Given the description of an element on the screen output the (x, y) to click on. 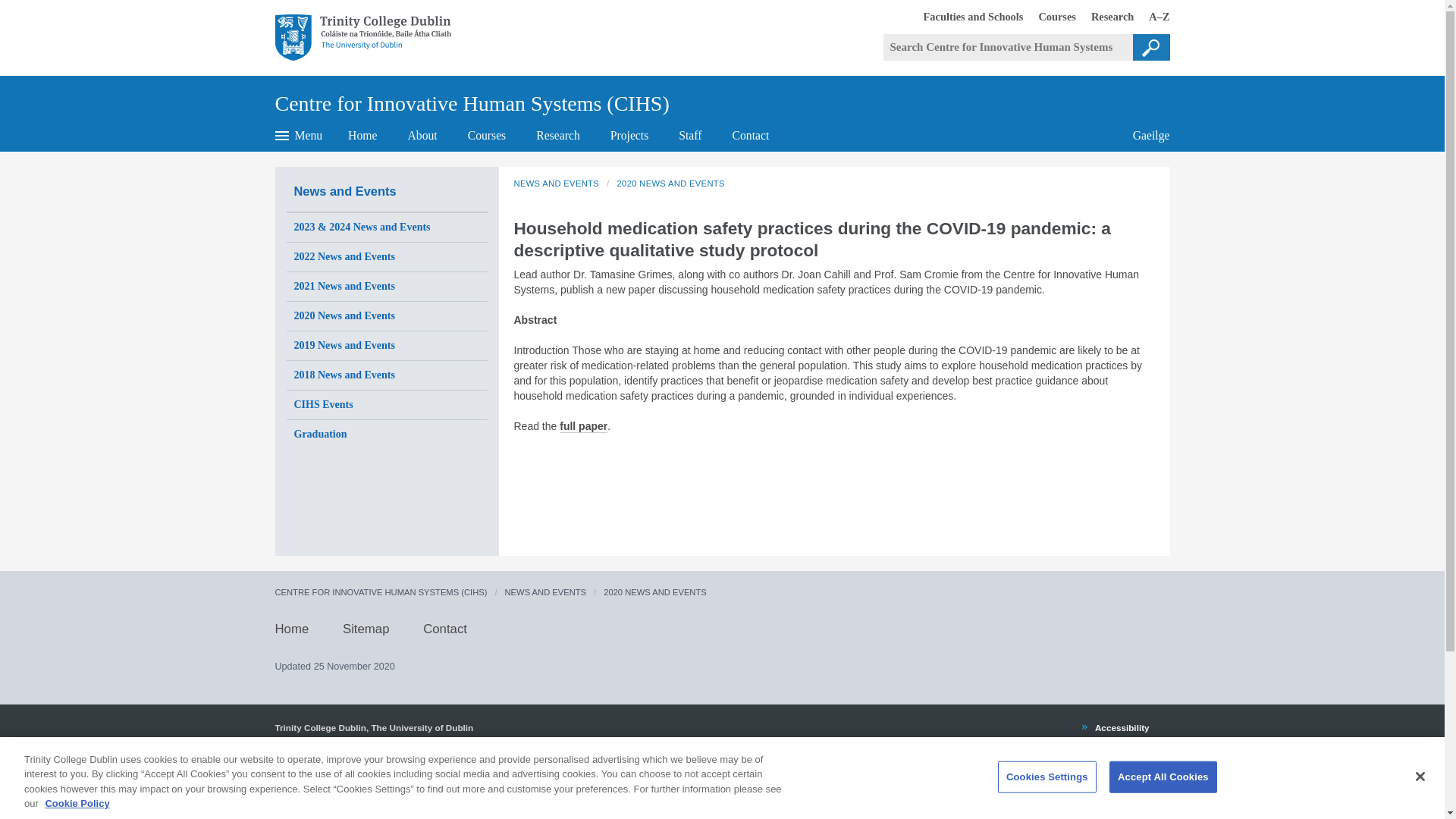
Contact (750, 135)
Courses (486, 135)
Go (1151, 47)
Projects (629, 135)
About (421, 135)
Home (1049, 15)
Trinity College Dublin, The University of Dublin (362, 135)
Staff (370, 38)
Faculties and Schools (689, 135)
Go (965, 15)
Gaeilge (1151, 47)
Research (1144, 135)
Menu (1104, 15)
